Given the description of an element on the screen output the (x, y) to click on. 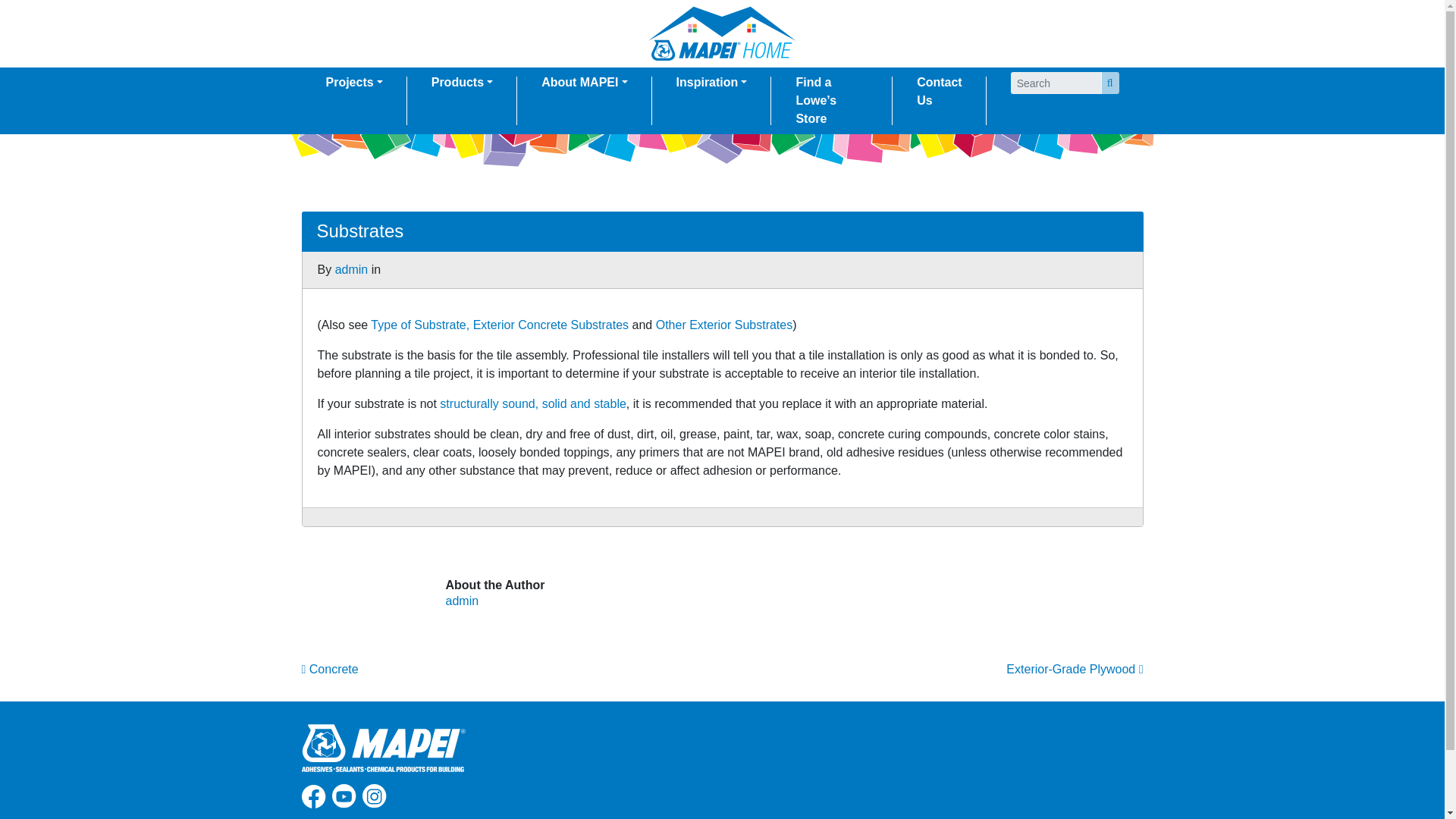
Projects (354, 82)
Products (461, 82)
MAPEI Home Lowes (721, 32)
admin (351, 269)
Search (1109, 83)
Products (461, 82)
Inspiration (711, 82)
Projects (354, 82)
Contact Us (939, 91)
About MAPEI (583, 82)
